Given the description of an element on the screen output the (x, y) to click on. 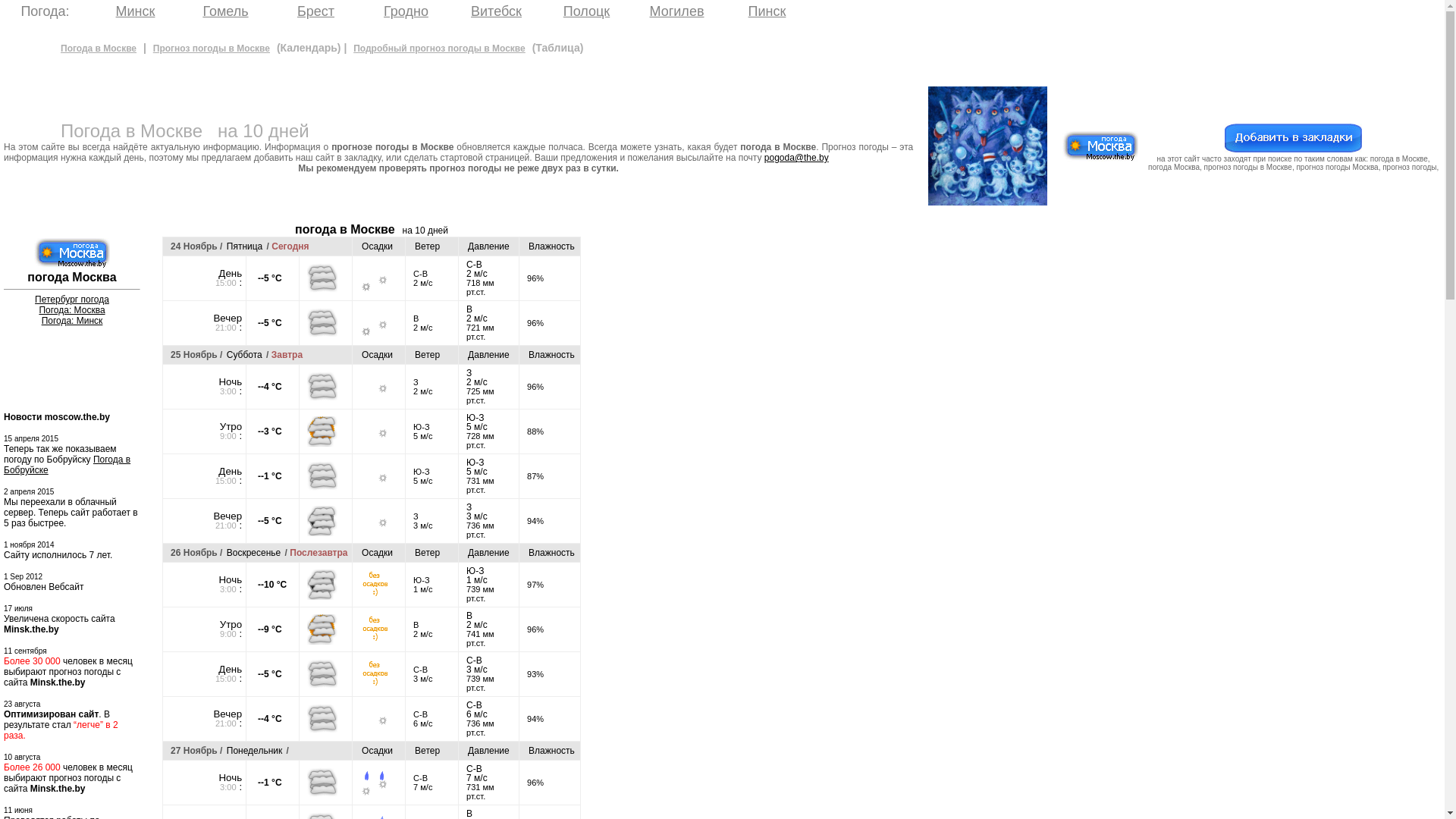
pogoda@the.by Element type: text (796, 157)
Advertisement Element type: hover (663, 449)
